Given the description of an element on the screen output the (x, y) to click on. 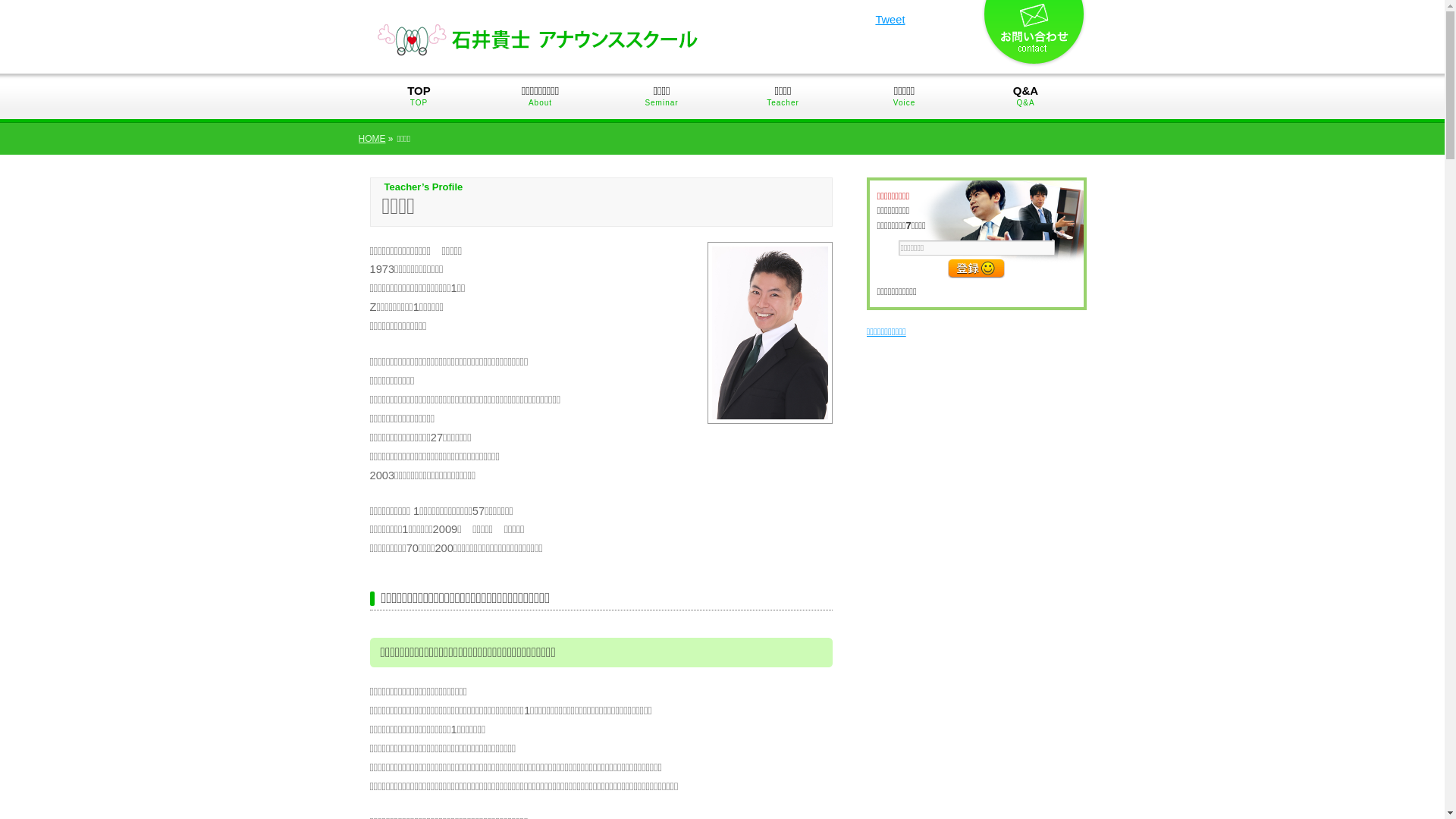
TOP
TOP Element type: text (418, 96)
Q&A
Q&A Element type: text (1024, 96)
HOME Element type: text (371, 138)
Tweet Element type: text (889, 19)
